Given the description of an element on the screen output the (x, y) to click on. 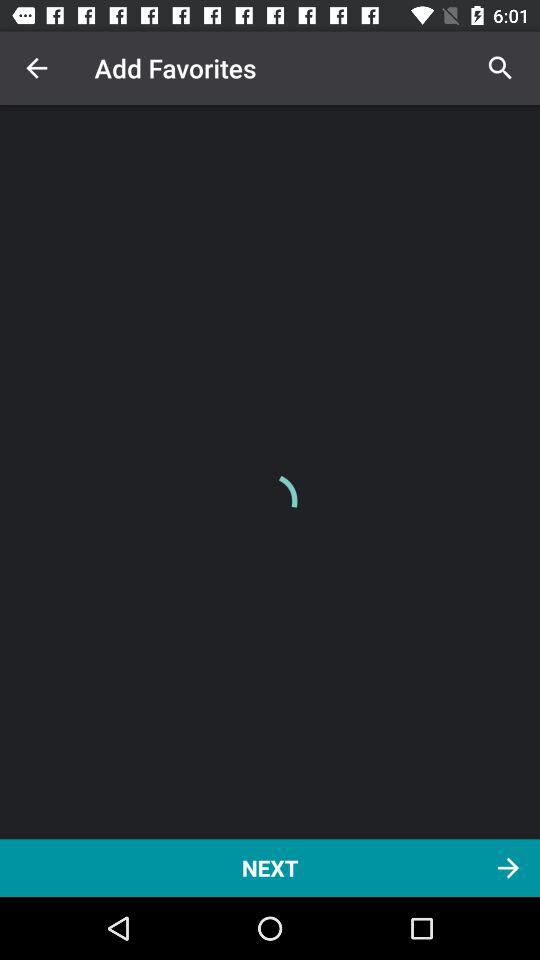
open item above the next icon (500, 67)
